Given the description of an element on the screen output the (x, y) to click on. 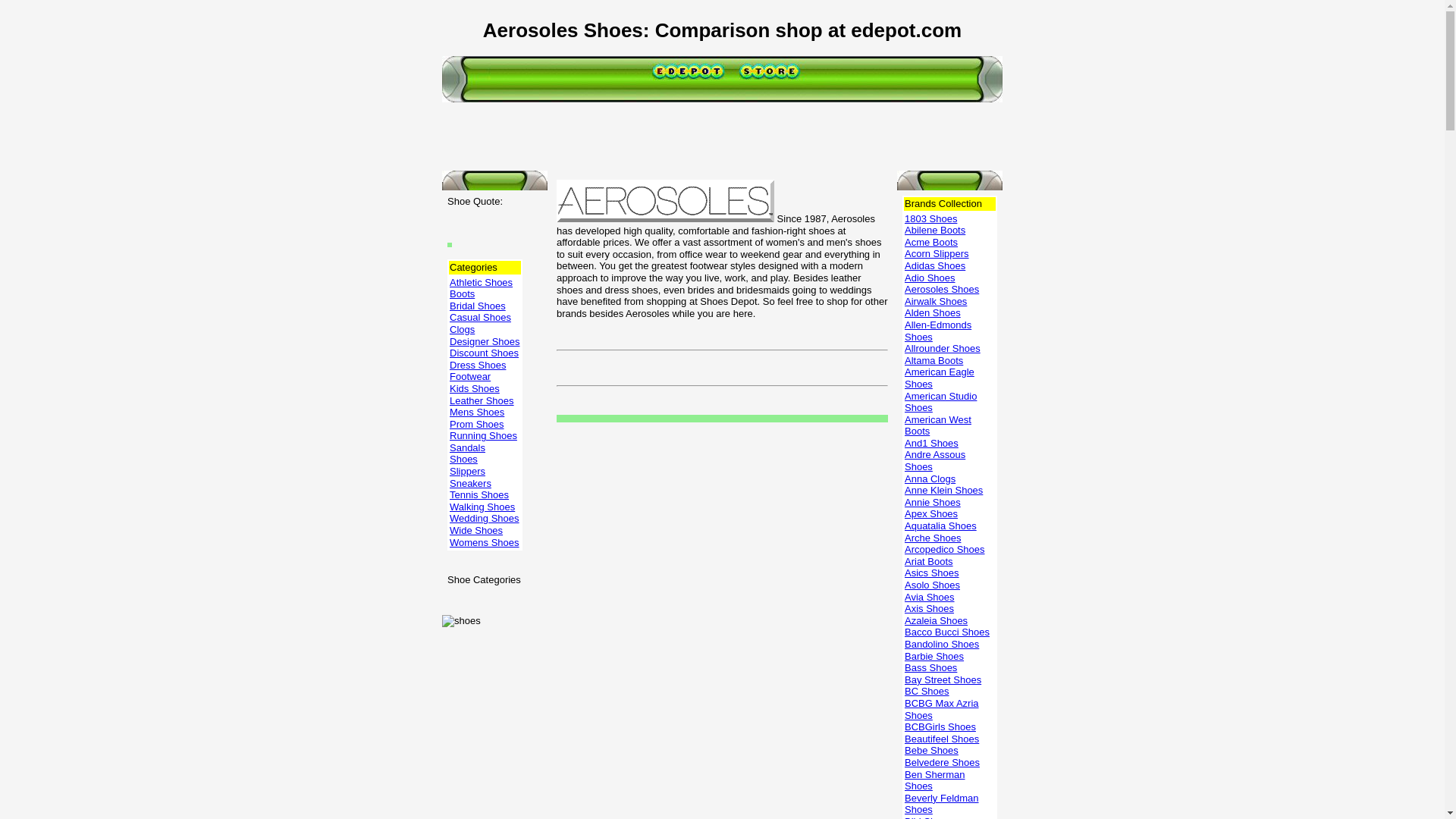
Adidas Shoes (934, 265)
Running Shoes (482, 435)
Sneakers (470, 482)
Dress Shoes (477, 365)
Andre Assous Shoes (934, 460)
1803 Shoes (930, 218)
Allen-Edmonds Shoes (937, 331)
American Studio Shoes (940, 401)
Alden Shoes (932, 312)
American West Boots (937, 425)
